Given the description of an element on the screen output the (x, y) to click on. 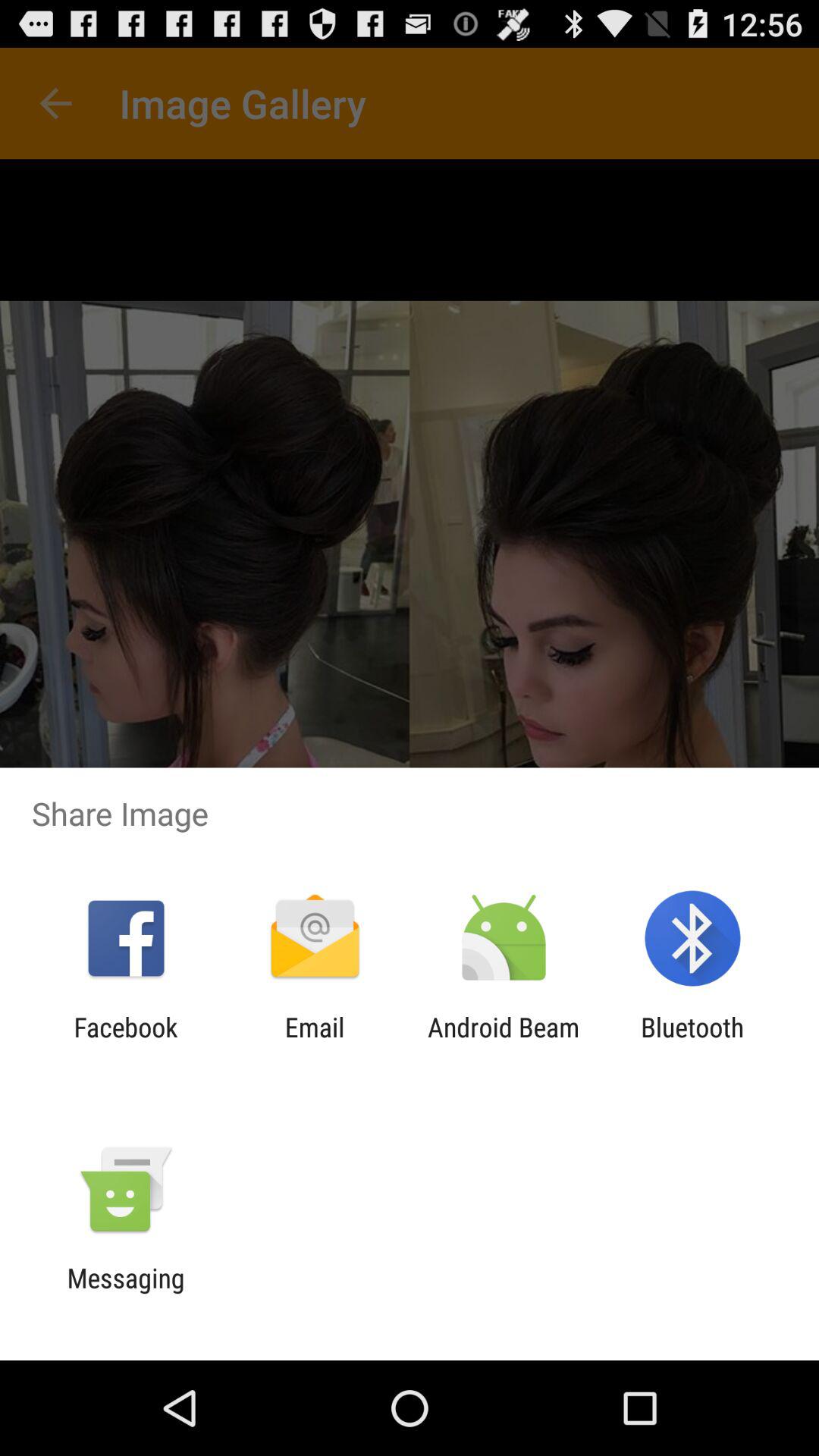
jump to the messaging app (125, 1293)
